Given the description of an element on the screen output the (x, y) to click on. 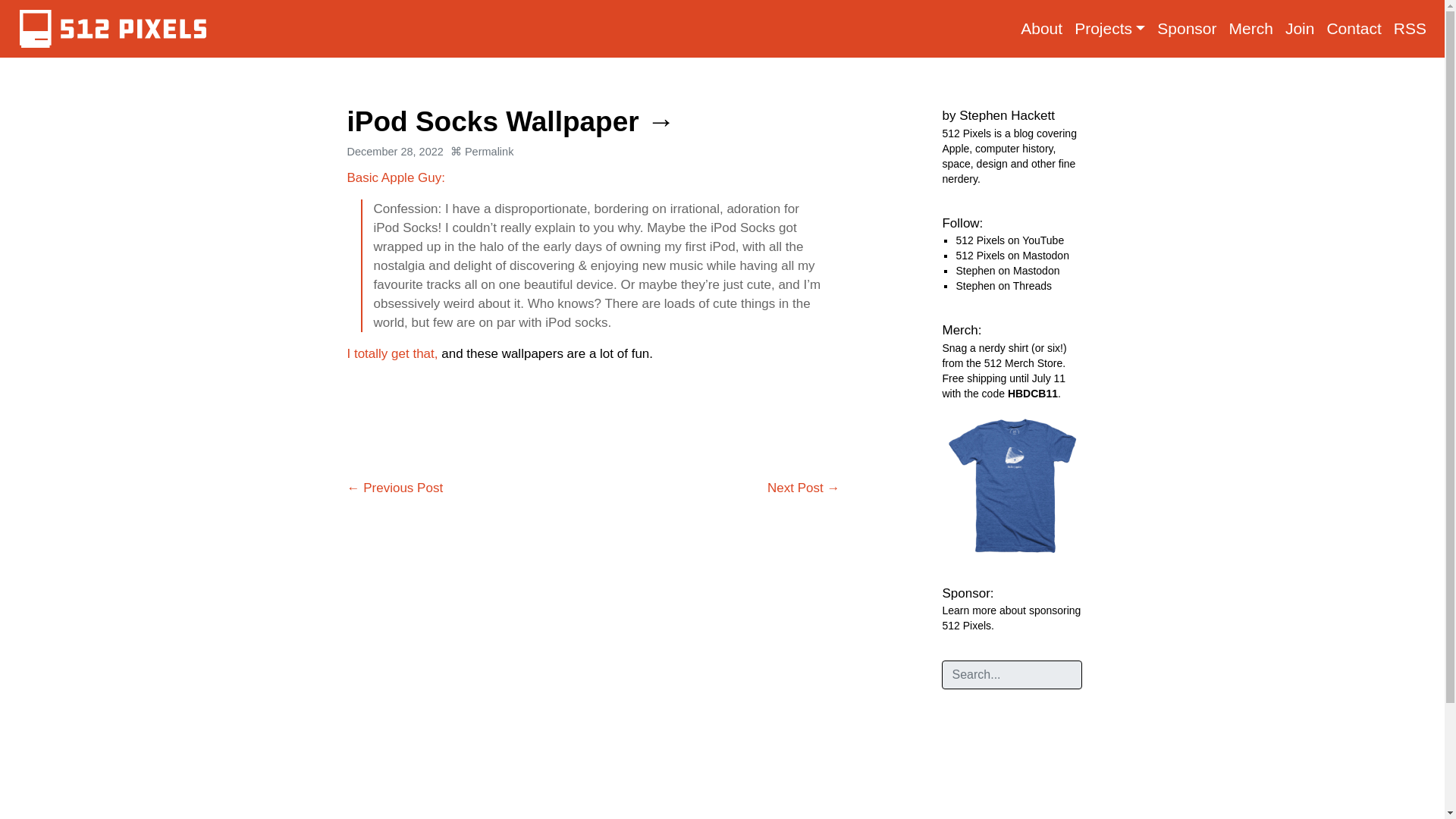
Projects (1109, 28)
Stephen on Threads (1003, 285)
Sponsor (1187, 28)
I totally get that, (392, 353)
Learn more about sponsoring 512 Pixels. (1011, 617)
Stephen on Mastodon (1007, 270)
RSS (1409, 28)
About (1041, 28)
RSS (1409, 28)
512 Pixels on Mastodon (1011, 255)
Join (1299, 28)
512 Pixels on YouTube (1009, 240)
Merch (1251, 28)
Join (1299, 28)
Contact (1353, 28)
